Given the description of an element on the screen output the (x, y) to click on. 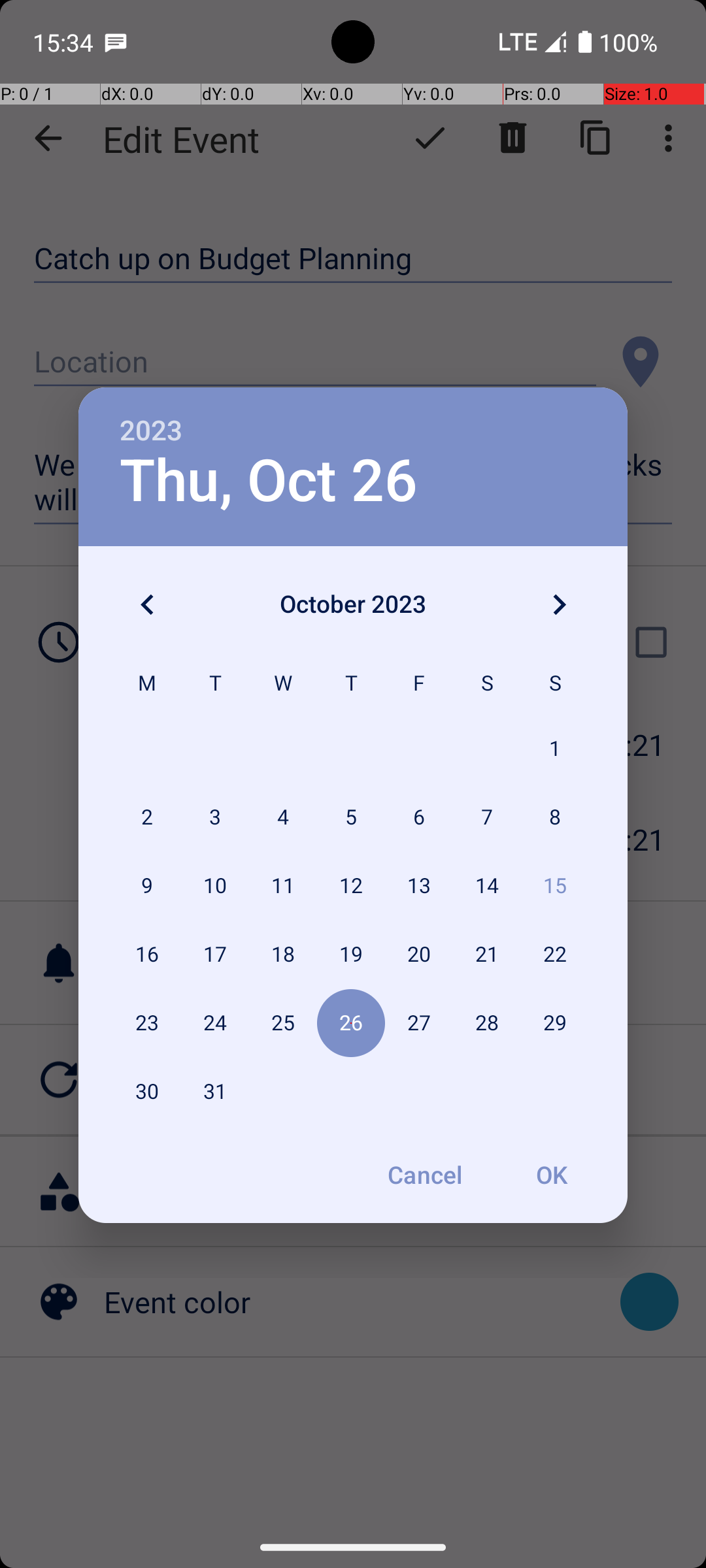
Thu, Oct 26 Element type: android.widget.TextView (268, 480)
